Given the description of an element on the screen output the (x, y) to click on. 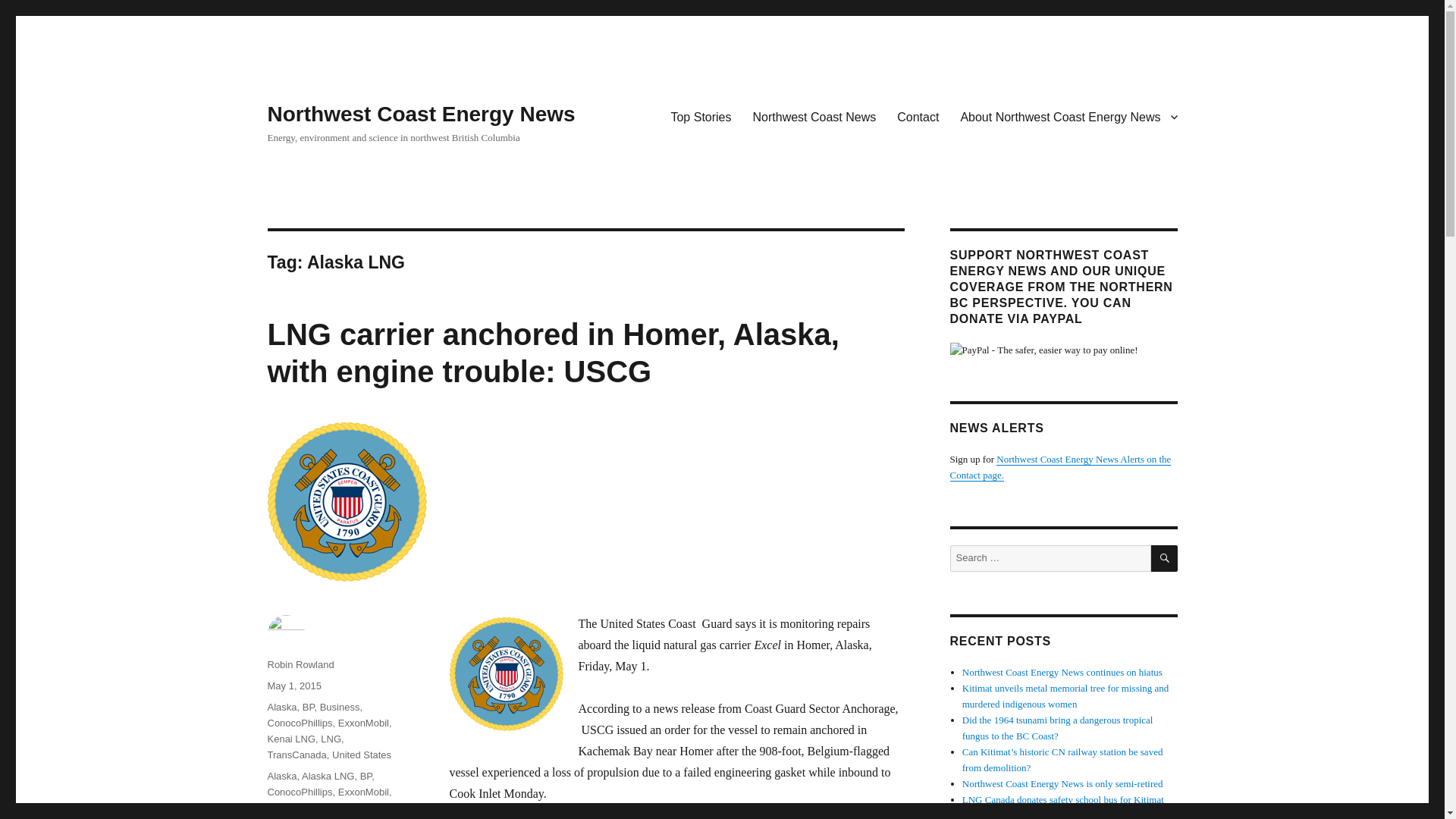
Business (339, 706)
Robin Rowland (299, 664)
Kenai (279, 808)
KM LNG (317, 808)
ConocoPhillips (298, 722)
Liquefied natural gas (323, 810)
United States (361, 754)
Alaska (281, 706)
BP (308, 706)
Northwest Coast News (814, 116)
